Given the description of an element on the screen output the (x, y) to click on. 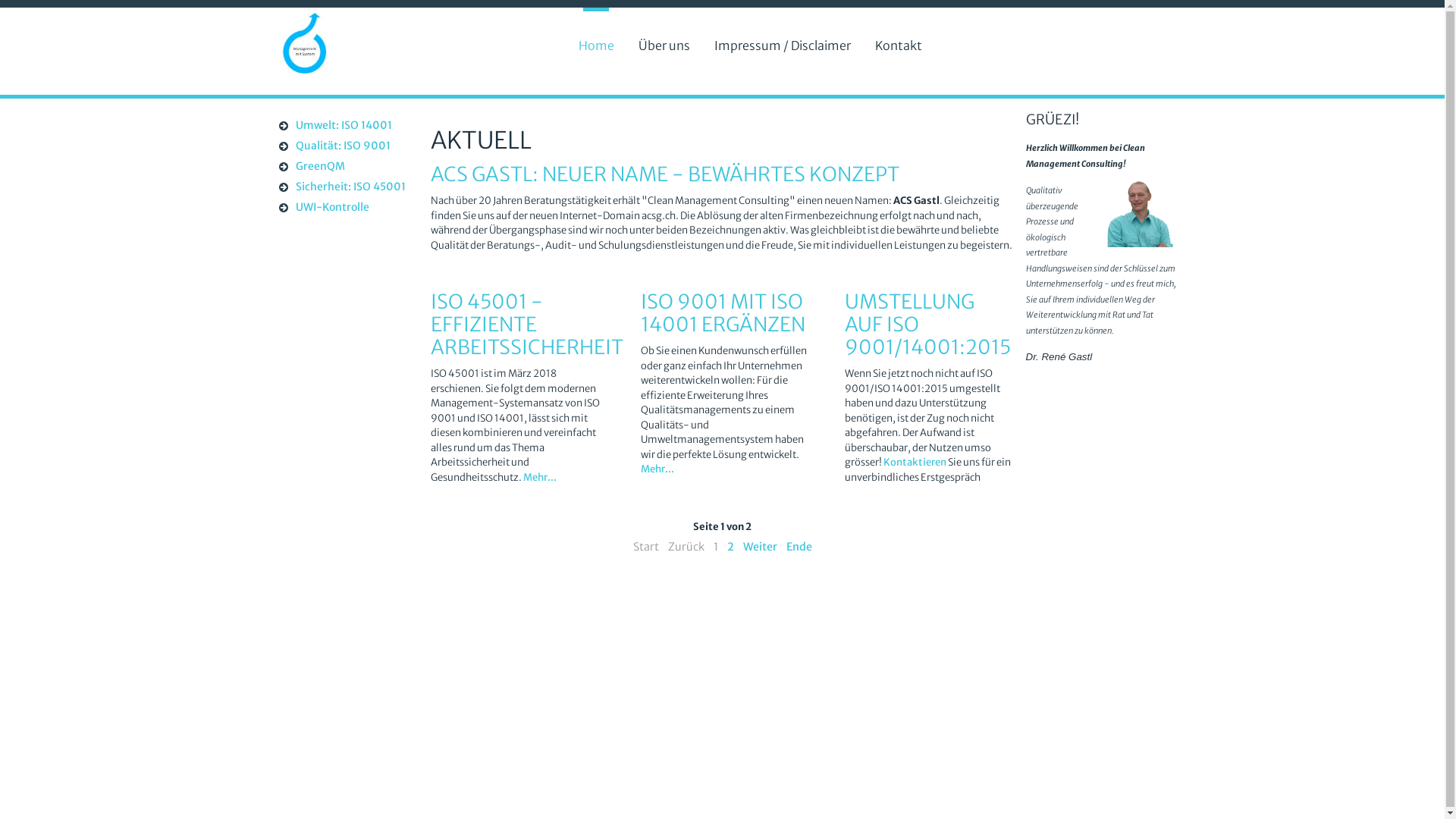
Ende Element type: text (798, 546)
2 Element type: text (729, 546)
Mehr... Element type: text (657, 468)
ISO 45001 - EFFIZIENTE ARBEITSSICHERHEIT Element type: text (526, 323)
Sicherheit: ISO 45001 Element type: text (343, 187)
UWI-Kontrolle Element type: text (343, 208)
Home Element type: text (595, 45)
GreenQM Element type: text (343, 167)
Mehr... Element type: text (539, 476)
Weiter Element type: text (760, 546)
Kontakt Element type: text (898, 45)
Impressum / Disclaimer Element type: text (782, 45)
Umwelt: ISO 14001 Element type: text (343, 126)
UMSTELLUNG AUF ISO 9001/14001:2015 Element type: text (927, 323)
Kontaktieren Element type: text (915, 461)
